Given the description of an element on the screen output the (x, y) to click on. 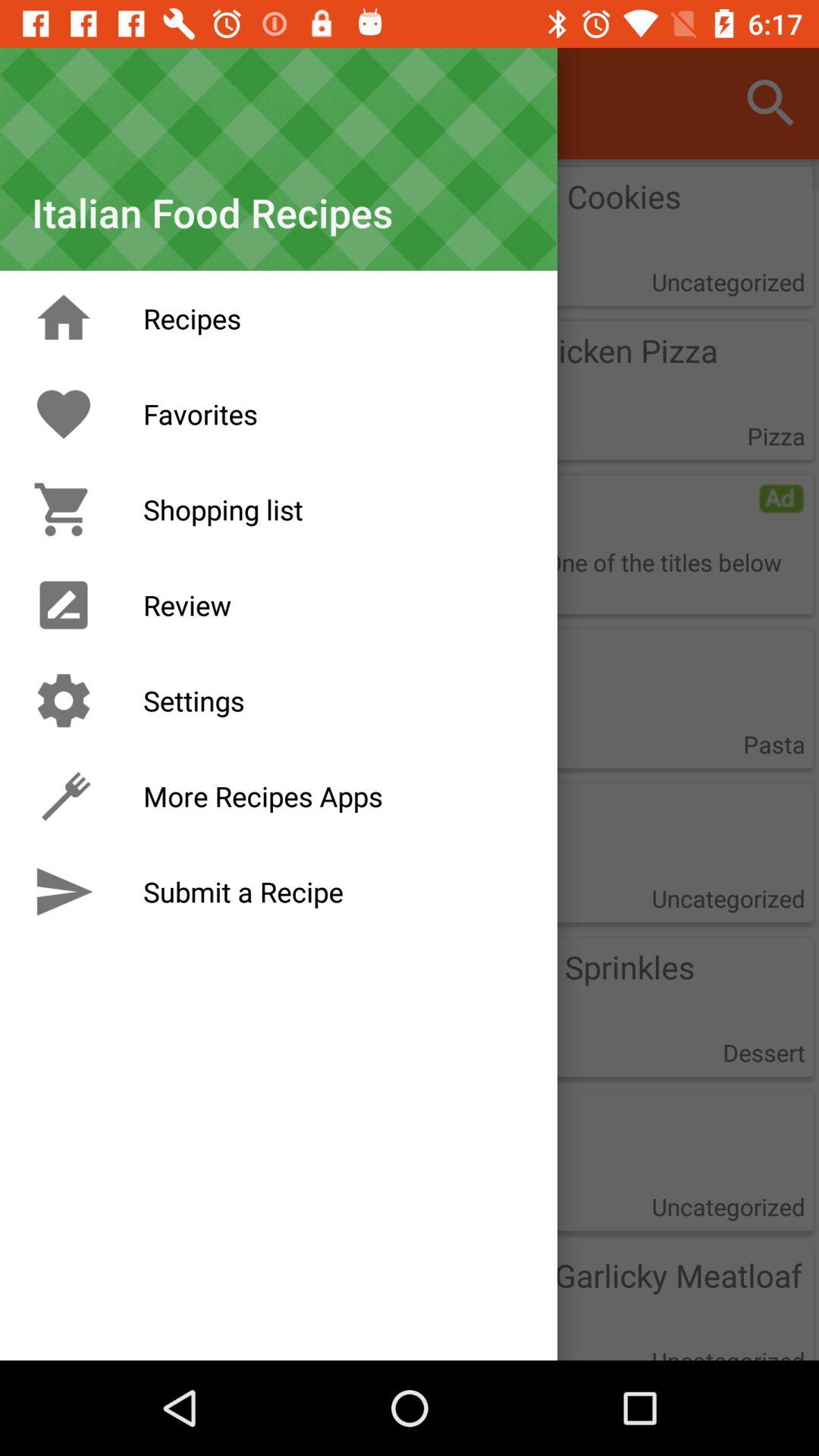
click on green color ad (781, 499)
click on search symbol (771, 103)
click submit a recipe icon (63, 891)
